Given the description of an element on the screen output the (x, y) to click on. 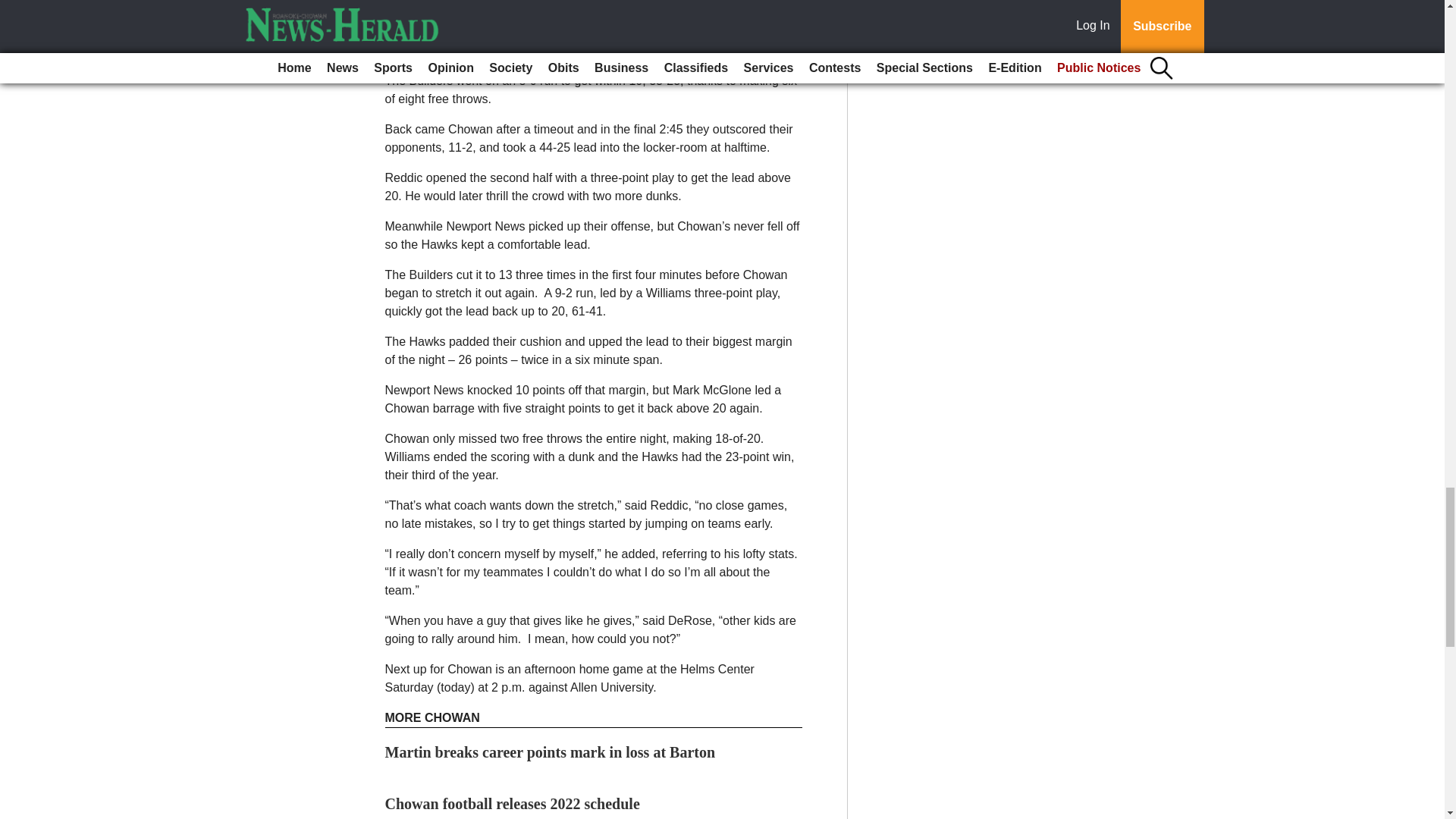
Martin breaks career points mark in loss at Barton (550, 751)
Chowan football releases 2022 schedule (512, 803)
Chowan football releases 2022 schedule (512, 803)
Martin breaks career points mark in loss at Barton (550, 751)
